Given the description of an element on the screen output the (x, y) to click on. 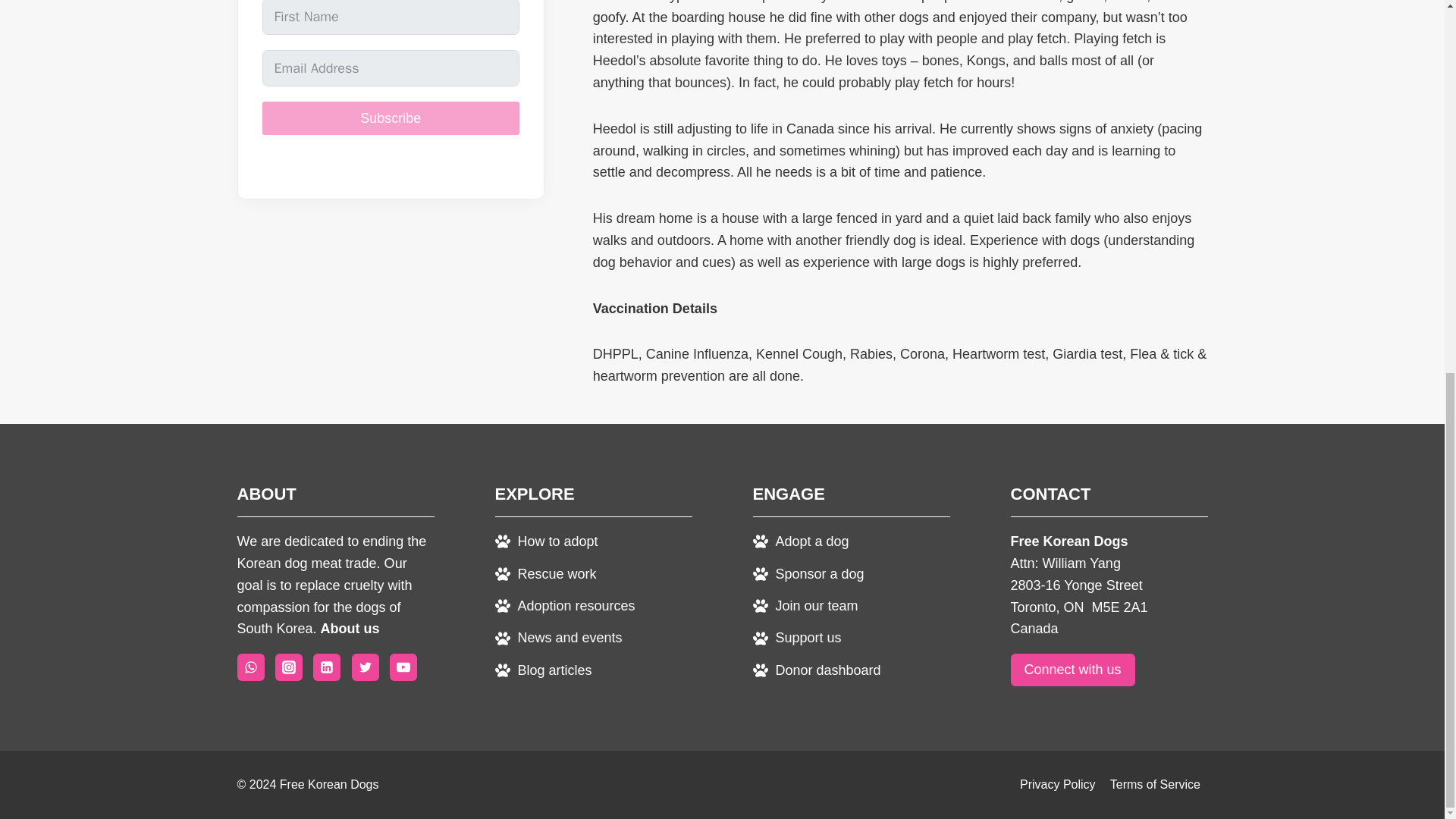
News and events (558, 637)
Terms of Service (1154, 784)
Rescue work (545, 573)
Blog articles (543, 670)
Subscribe (390, 117)
About us (350, 628)
Connect with us (1072, 669)
Sponsor a dog (807, 573)
Privacy Policy (1056, 784)
Donor dashboard (816, 670)
How to adopt (545, 541)
Support us (796, 637)
Join our team (804, 605)
Adopt a dog (800, 541)
Adoption resources (564, 605)
